Given the description of an element on the screen output the (x, y) to click on. 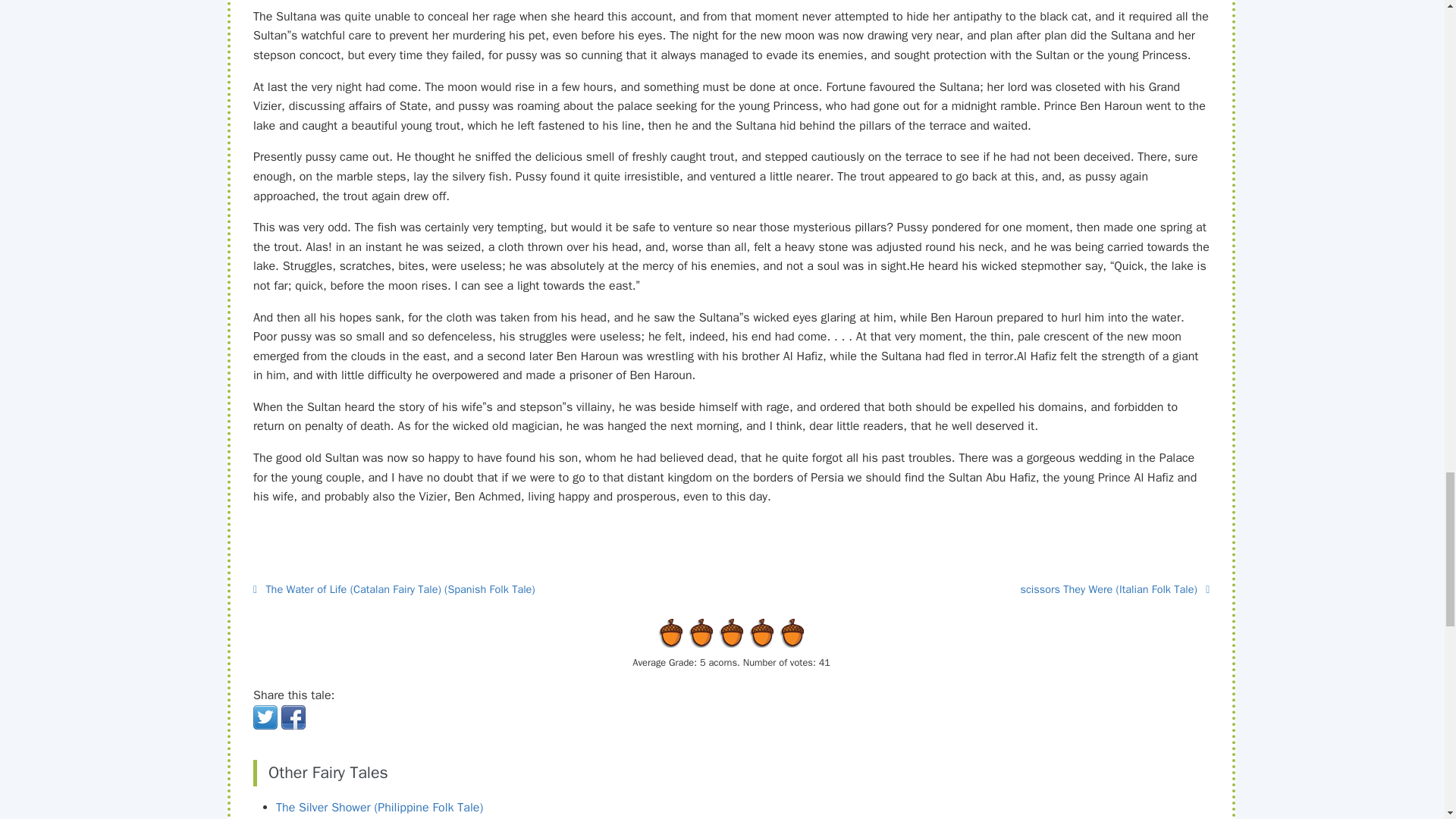
4 (716, 632)
1 (670, 632)
2 (686, 632)
5 (732, 632)
3 (701, 632)
